Given the description of an element on the screen output the (x, y) to click on. 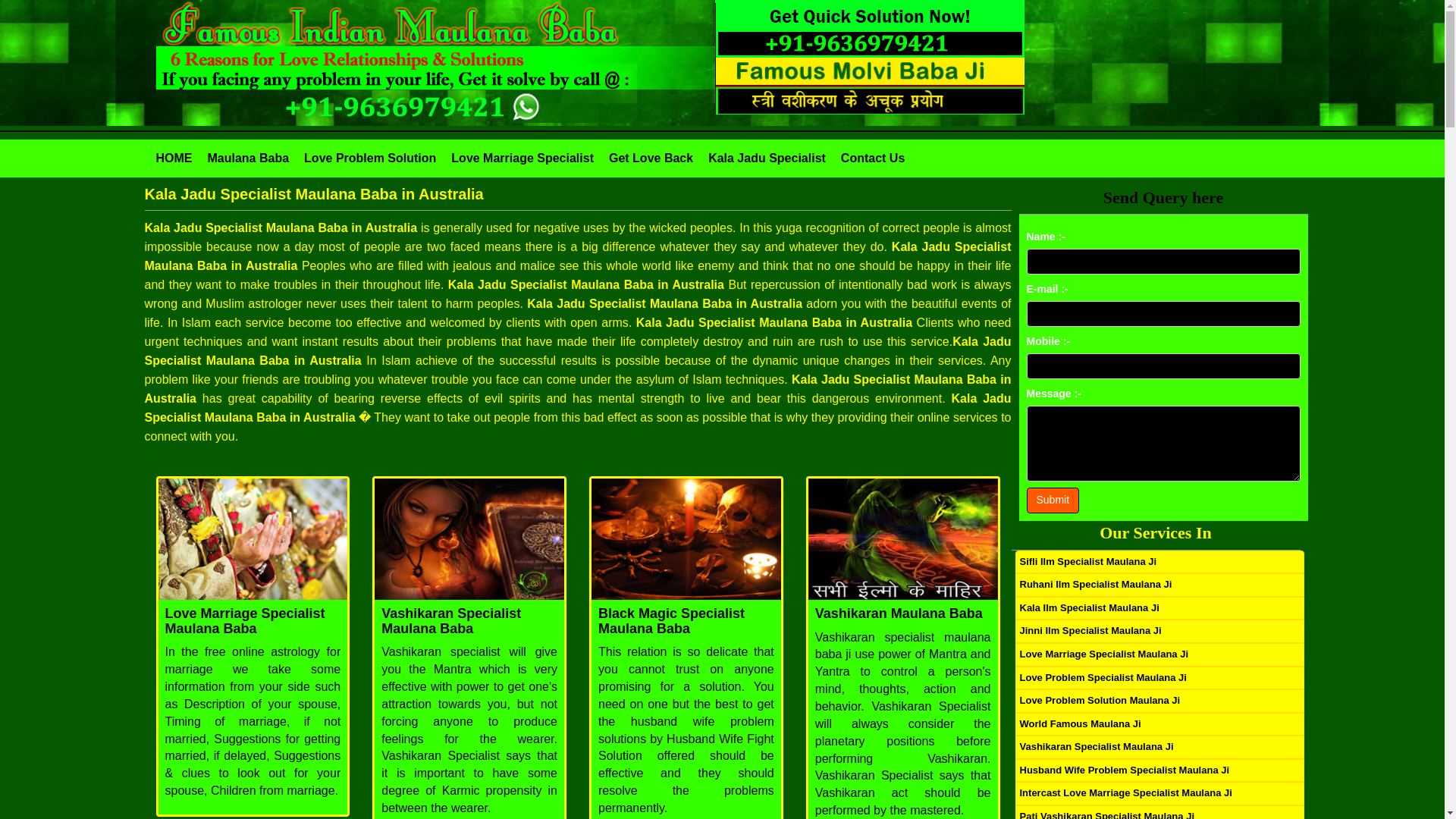
Submit (1053, 500)
Kala Jadu Specialist Maulana Baba in Australia (577, 193)
Maulana Baba in India (247, 158)
Get Love Back (651, 158)
Contact Us (872, 158)
Get Love Back (651, 158)
Love Problem Solution (369, 158)
Love Problem Solution Maulana Baba in India (369, 158)
home (173, 158)
Love Marriage Specialist Maulana Baba in India (521, 158)
